Given the description of an element on the screen output the (x, y) to click on. 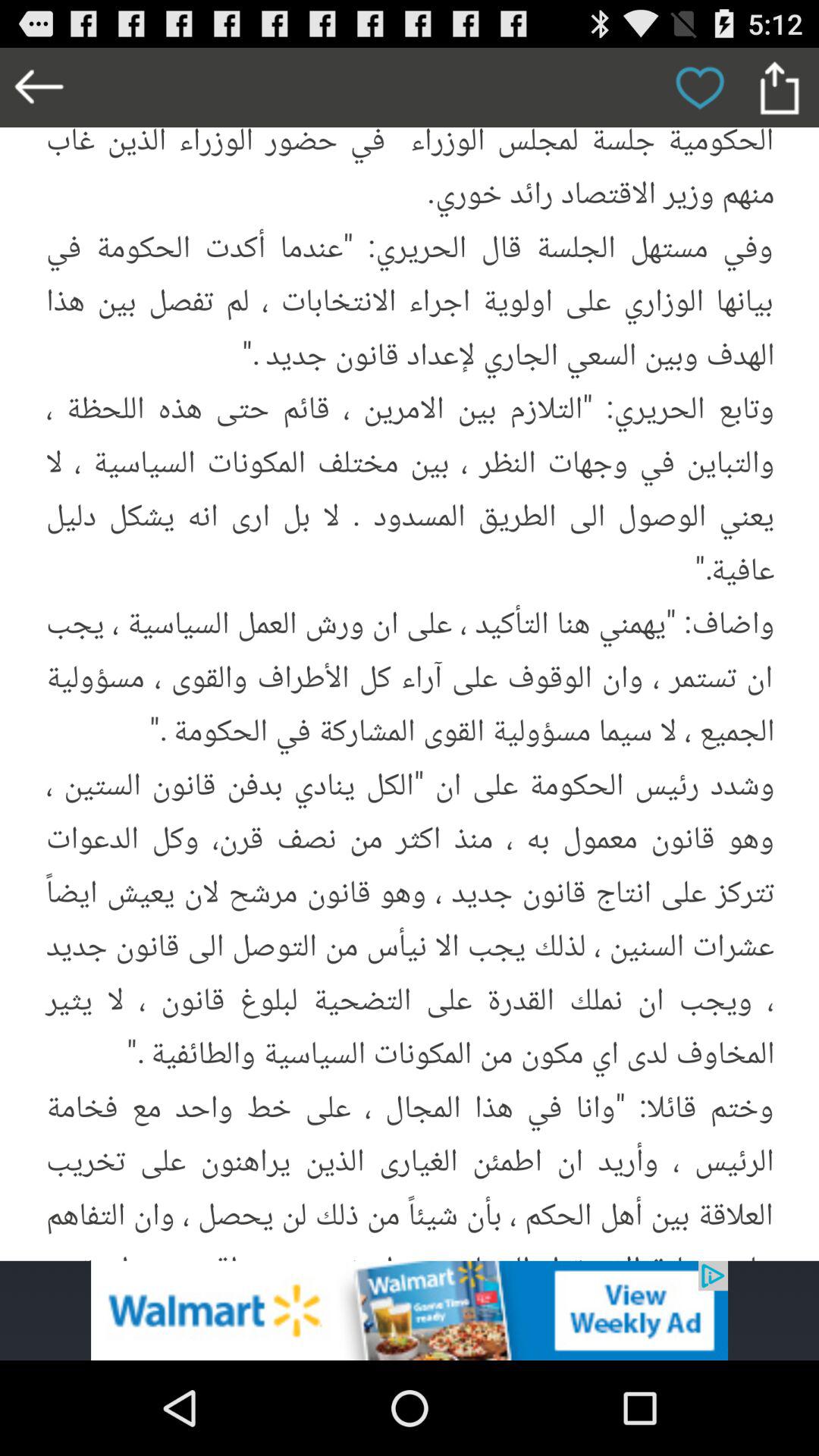
advertisement link (409, 1310)
